Given the description of an element on the screen output the (x, y) to click on. 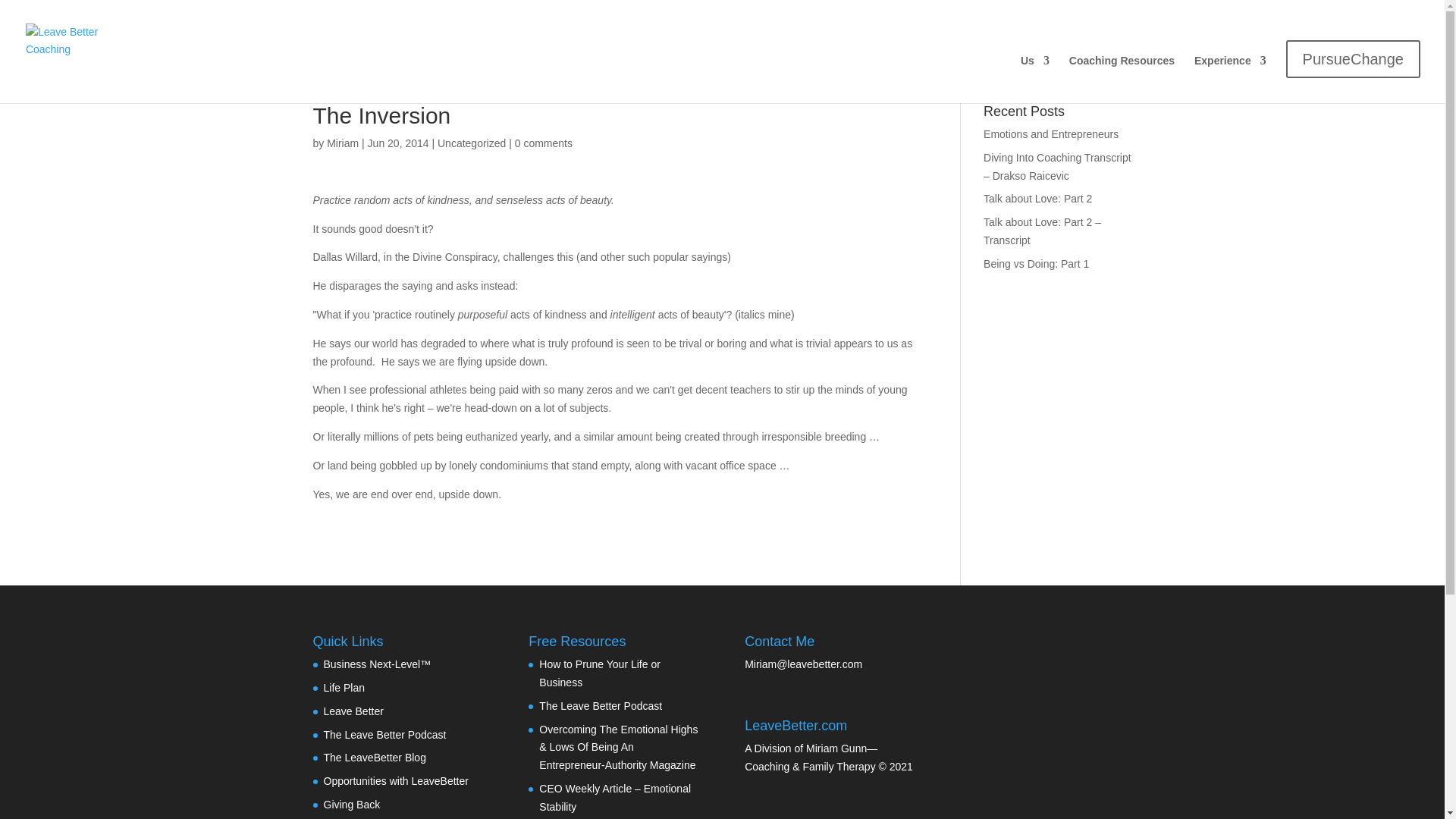
Posts by Miriam (342, 143)
Giving Back (351, 804)
The Leave Better Podcast (600, 705)
Miriam (342, 143)
Uncategorized (471, 143)
How to Prune Your Life or Business (599, 673)
Talk about Love: Part 2 (1038, 198)
Opportunities with LeaveBetter (395, 780)
Life Plan (343, 687)
0 comments (543, 143)
